Given the description of an element on the screen output the (x, y) to click on. 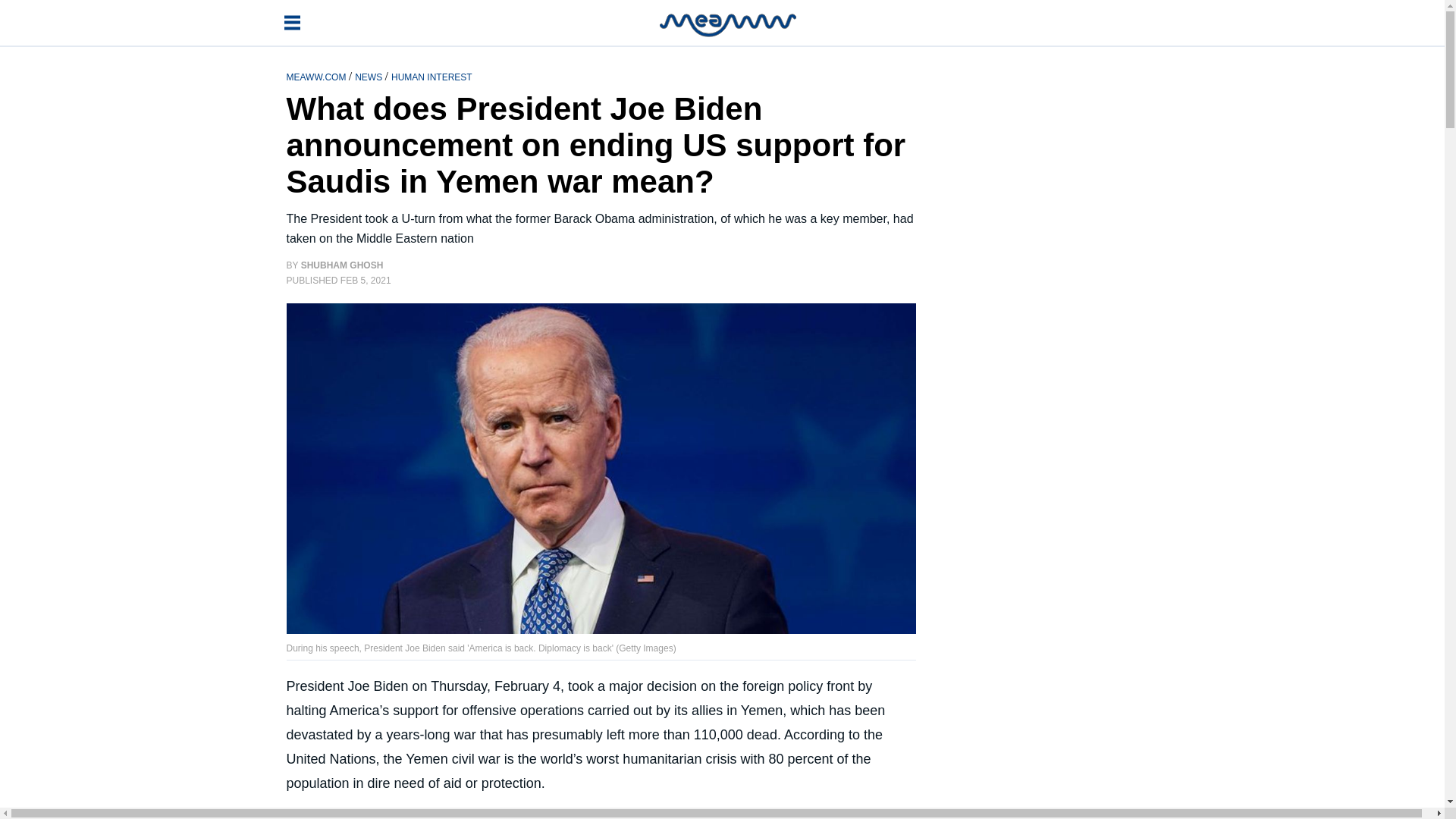
SHUBHAM GHOSH (342, 265)
HUMAN INTEREST (431, 75)
NEWS (369, 75)
MEAWW.COM (317, 75)
